Given the description of an element on the screen output the (x, y) to click on. 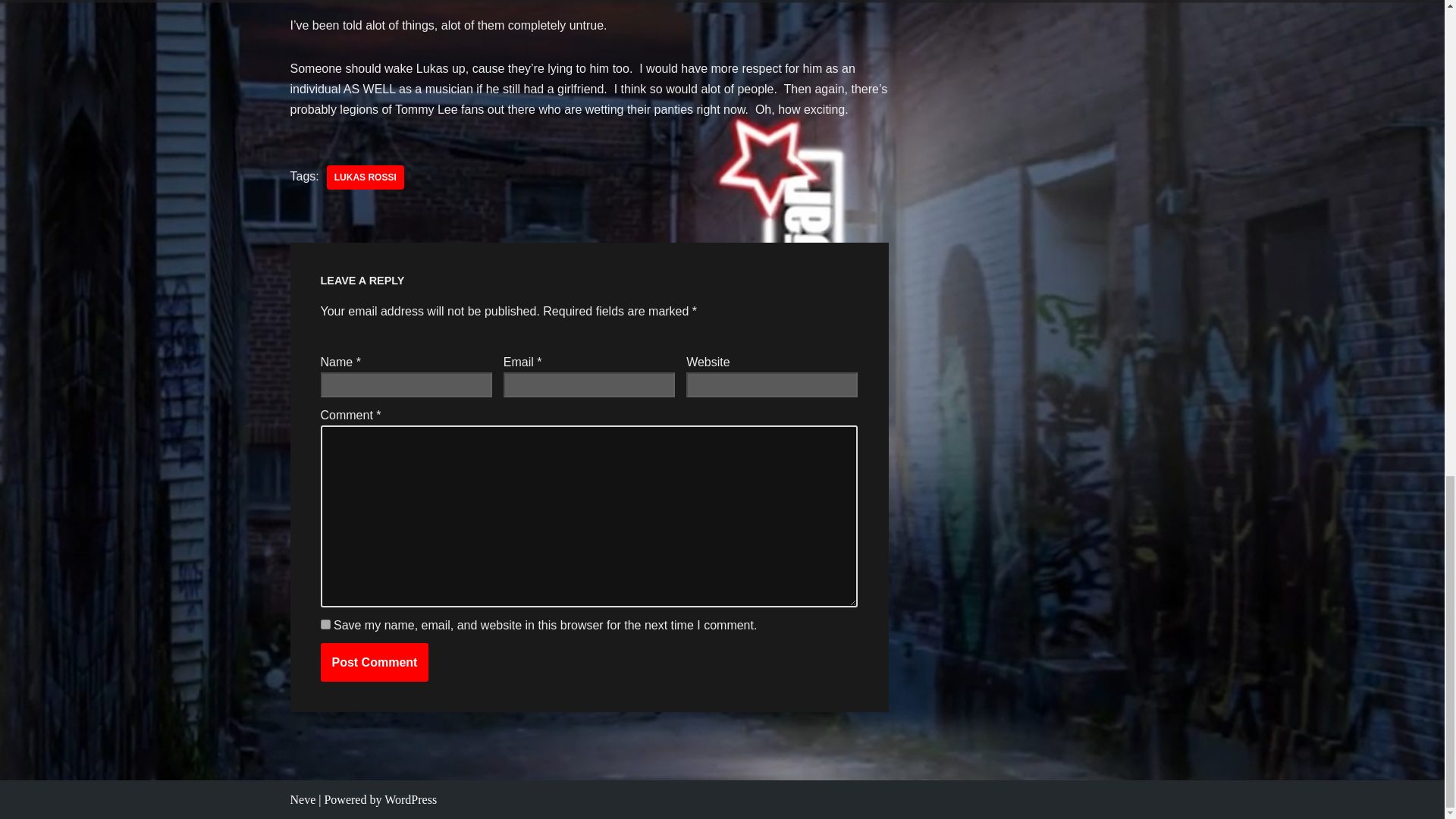
Post Comment (374, 662)
yes (325, 624)
LUKAS ROSSI (365, 177)
Post Comment (374, 662)
Lukas Rossi (365, 177)
Neve (302, 799)
WordPress (410, 799)
